Given the description of an element on the screen output the (x, y) to click on. 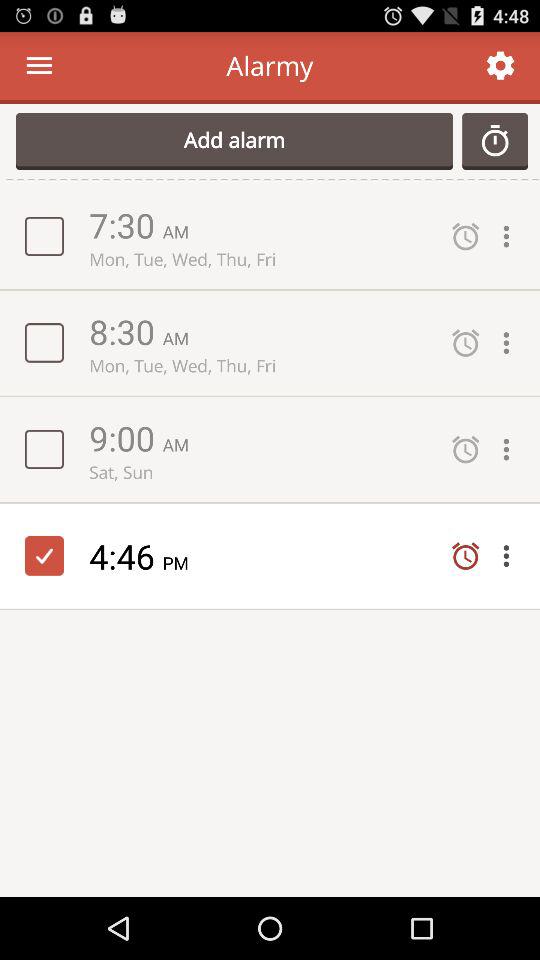
more options 7:30 am (511, 236)
